Given the description of an element on the screen output the (x, y) to click on. 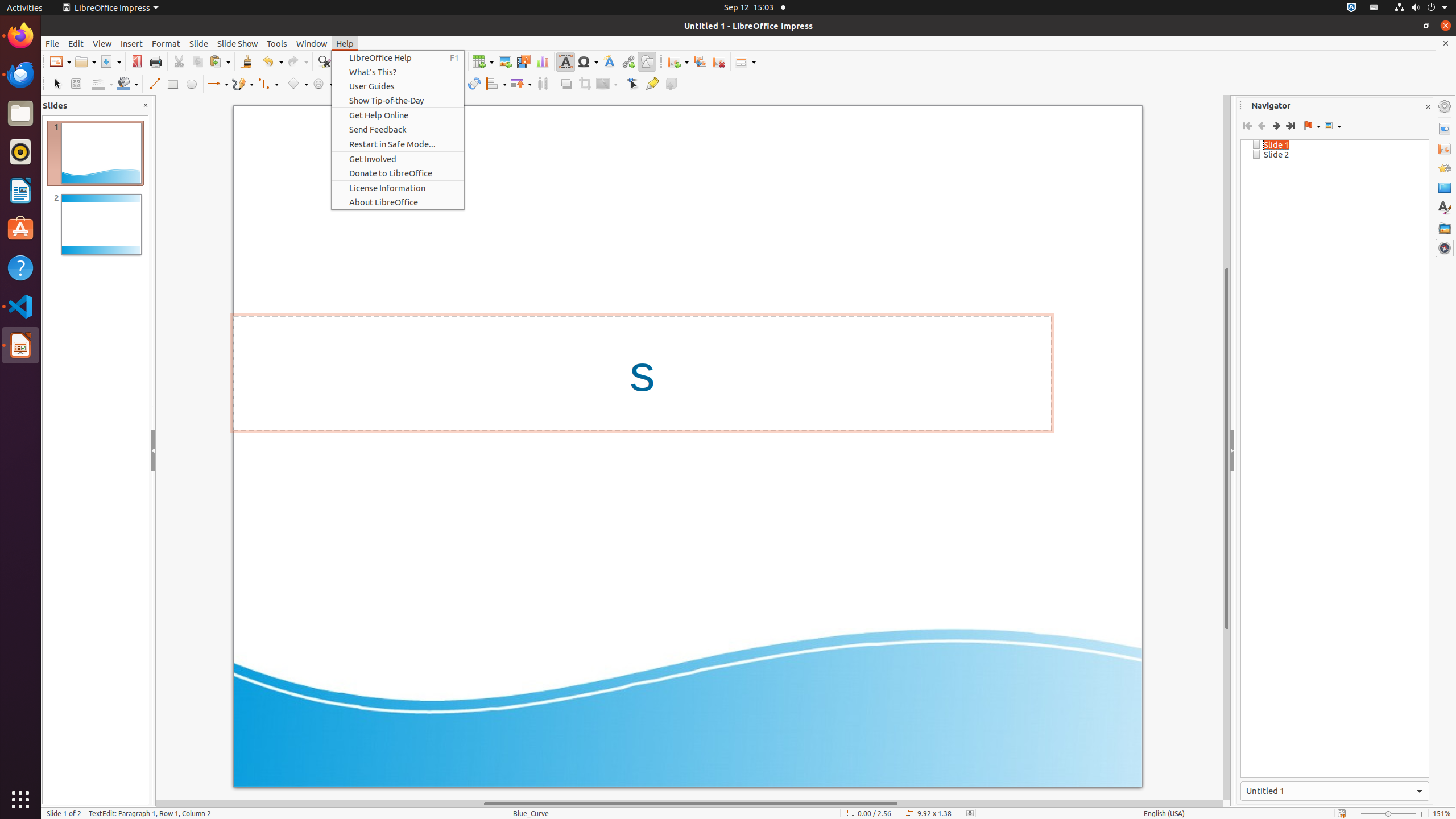
Properties Element type: radio-button (1444, 128)
Next Slide Element type: push-button (1275, 125)
Close Pane Element type: push-button (145, 105)
Thunderbird Mail Element type: push-button (20, 74)
Donate to LibreOffice Element type: menu-item (397, 173)
